Given the description of an element on the screen output the (x, y) to click on. 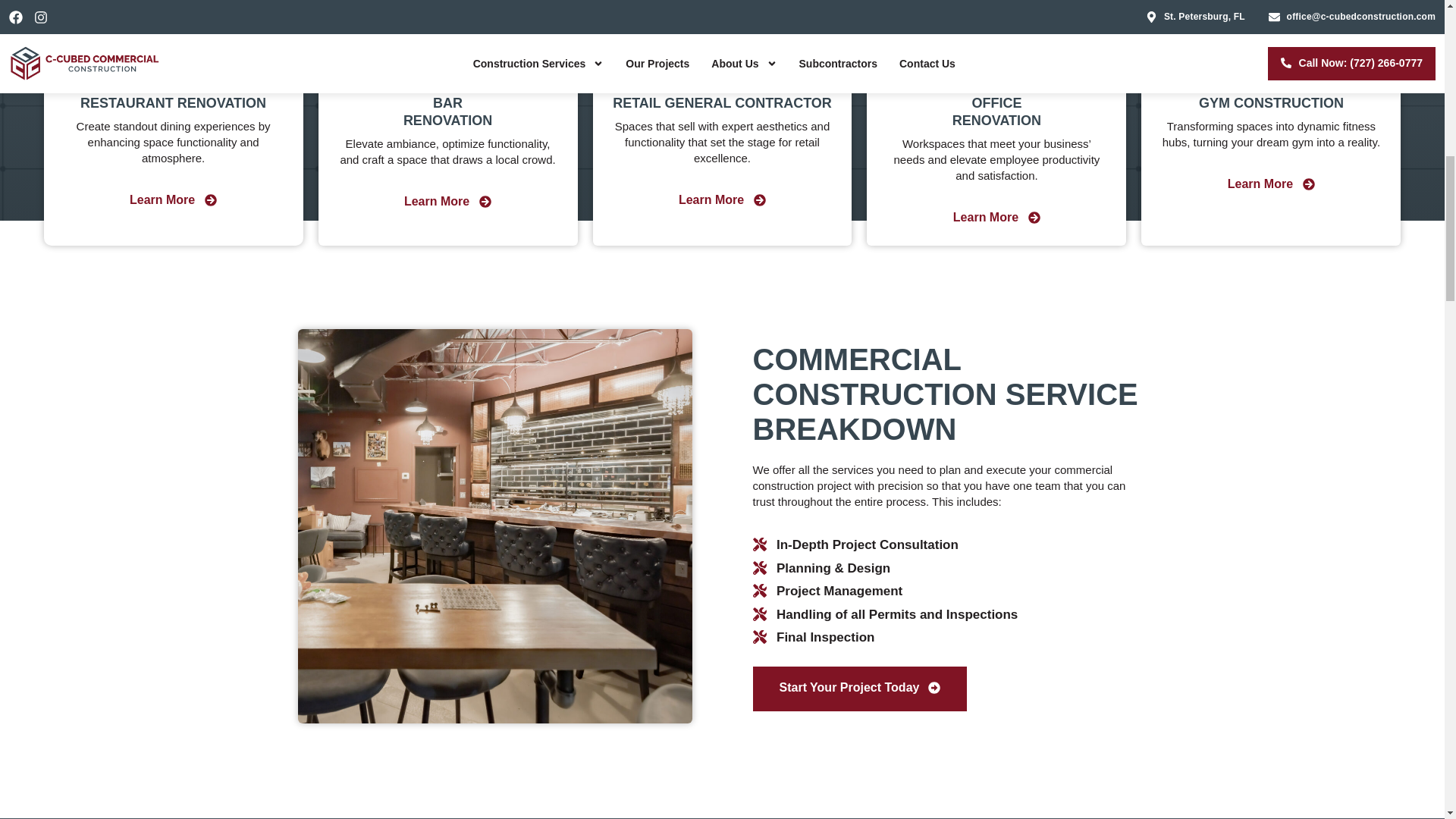
Restaurant (173, 52)
Retail (722, 52)
Gym Icon (1270, 52)
Bar (448, 52)
Office (996, 52)
